Given the description of an element on the screen output the (x, y) to click on. 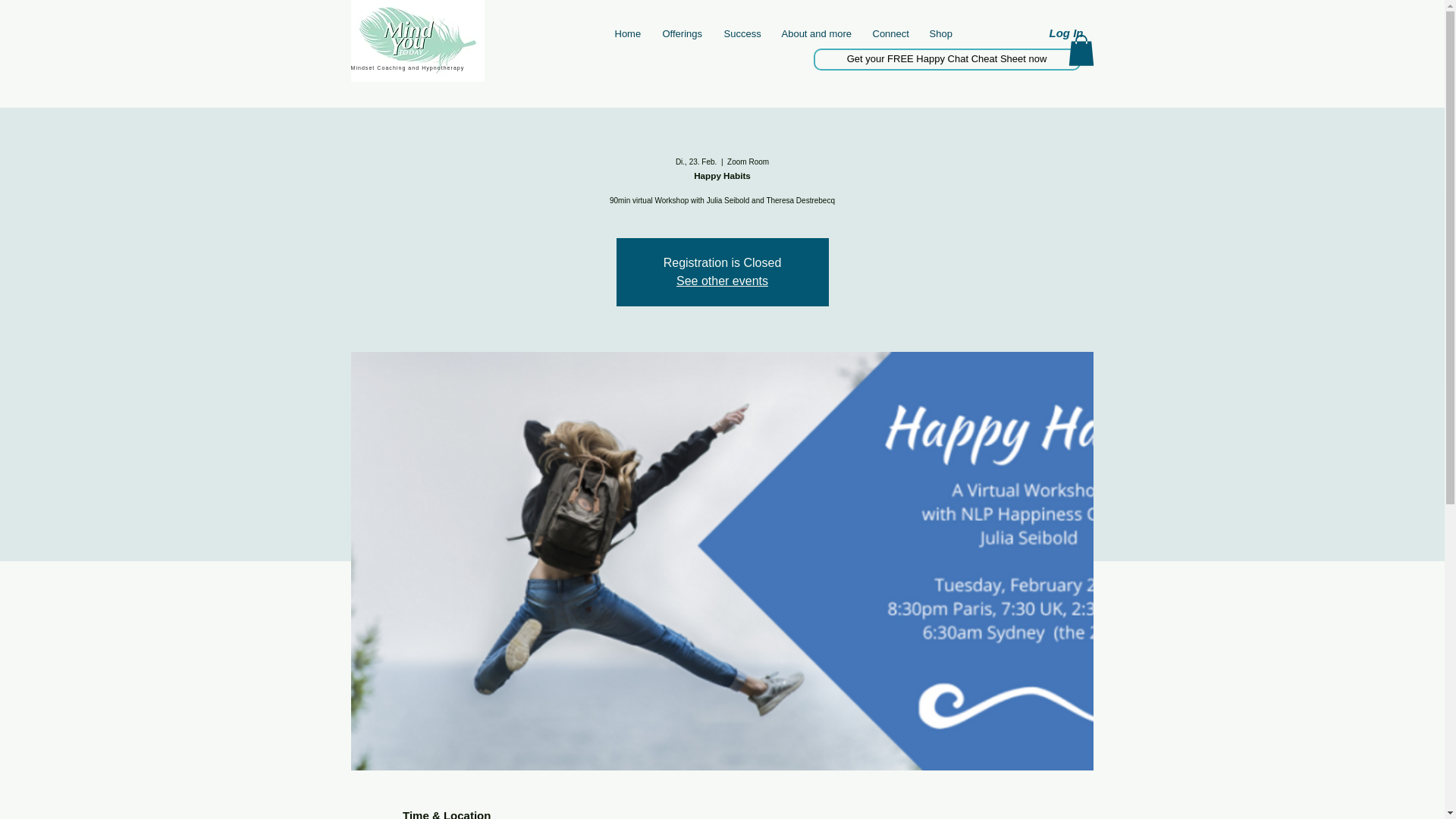
Home (627, 33)
See other events (722, 280)
Success (741, 33)
Shop (939, 33)
Log In (1066, 32)
Get your FREE Happy Chat Cheat Sheet now (946, 59)
Connect (889, 33)
About and more (815, 33)
Offerings (680, 33)
